Given the description of an element on the screen output the (x, y) to click on. 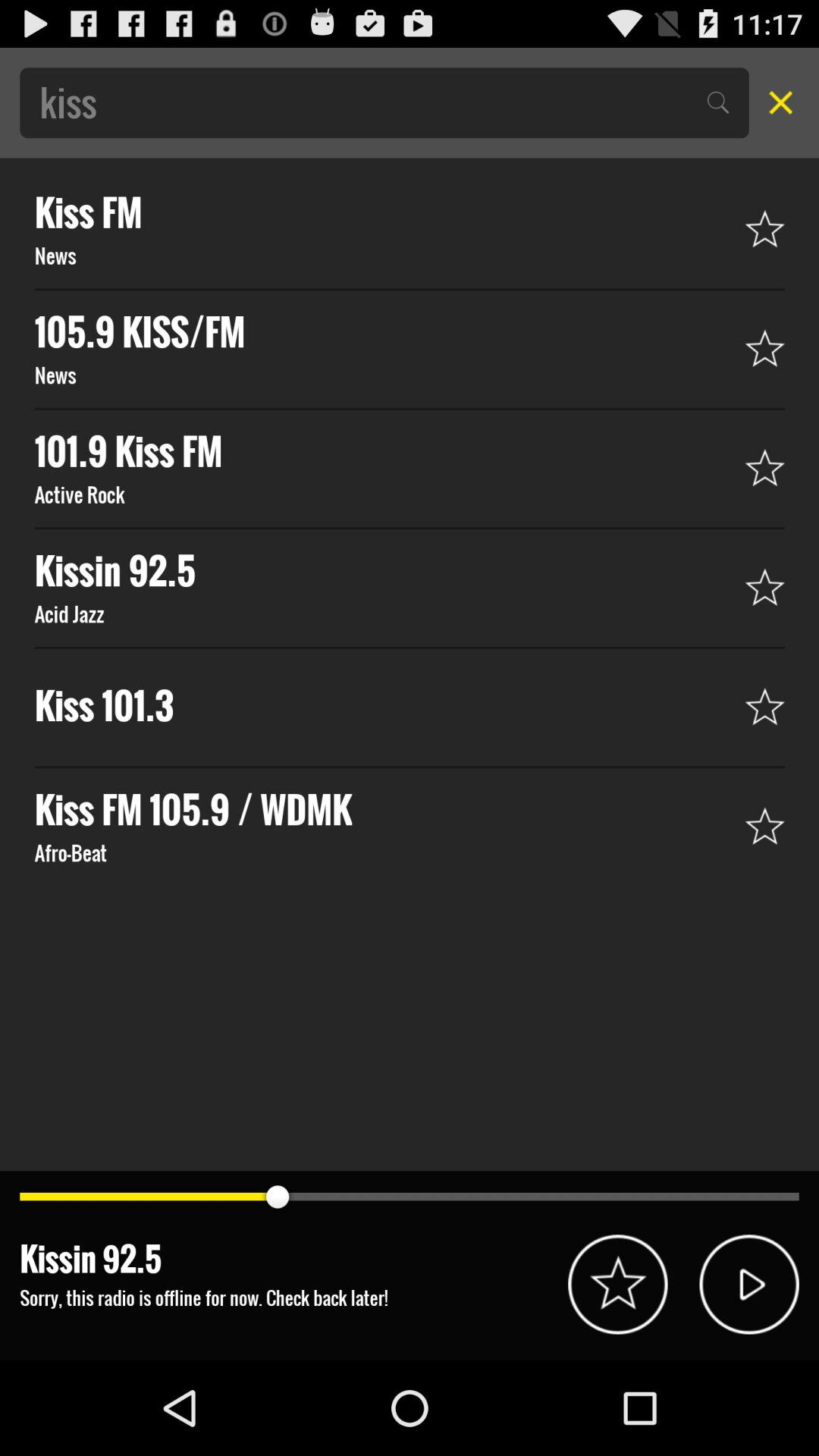
star to save this option (617, 1284)
